Given the description of an element on the screen output the (x, y) to click on. 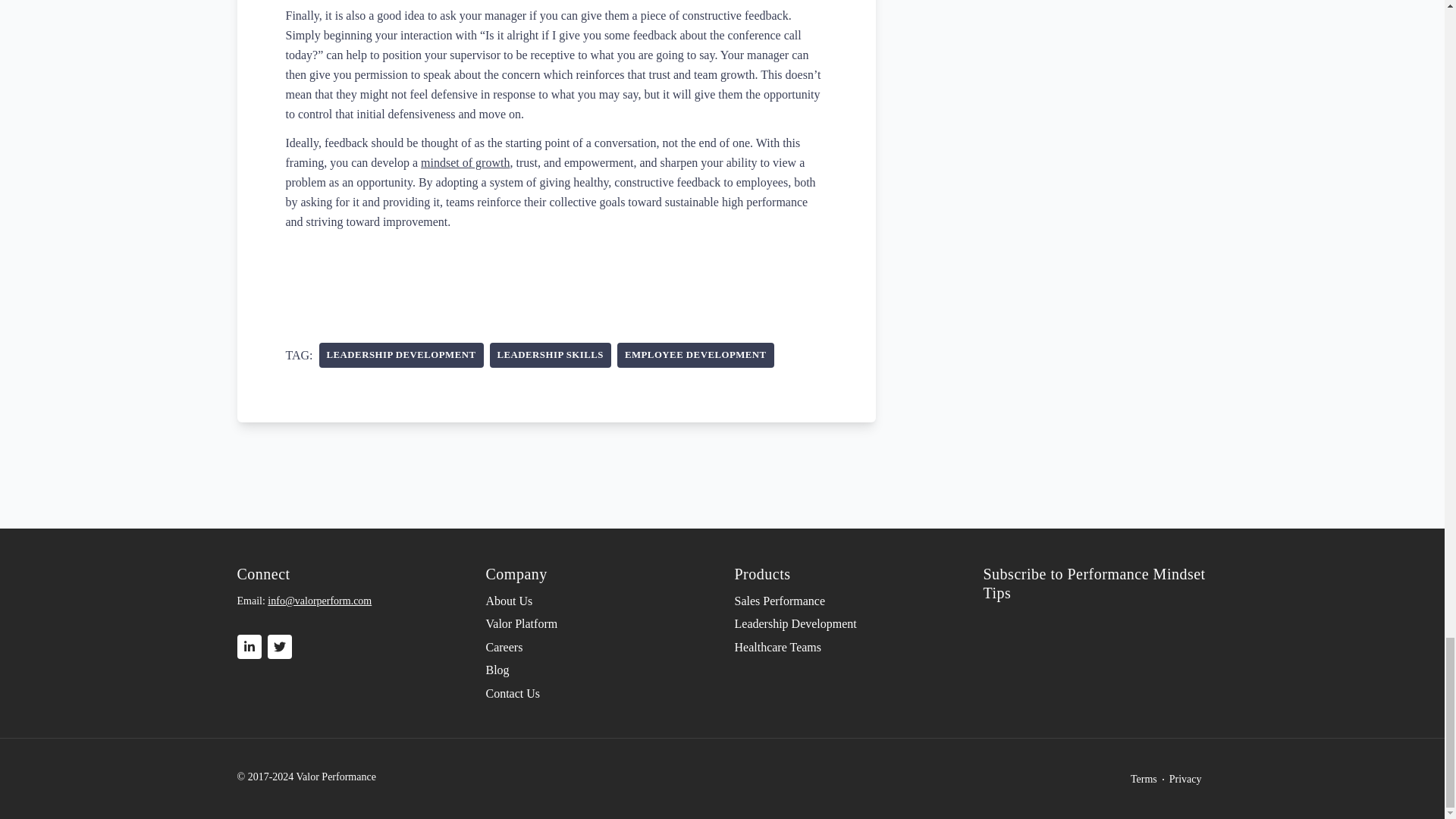
Contact Us (597, 693)
EMPLOYEE DEVELOPMENT (695, 355)
mindset of growth (464, 162)
Valor Platform (597, 623)
Careers (597, 647)
LEADERSHIP SKILLS (550, 355)
Blog (597, 669)
About Us (597, 600)
LEADERSHIP DEVELOPMENT (400, 355)
